Given the description of an element on the screen output the (x, y) to click on. 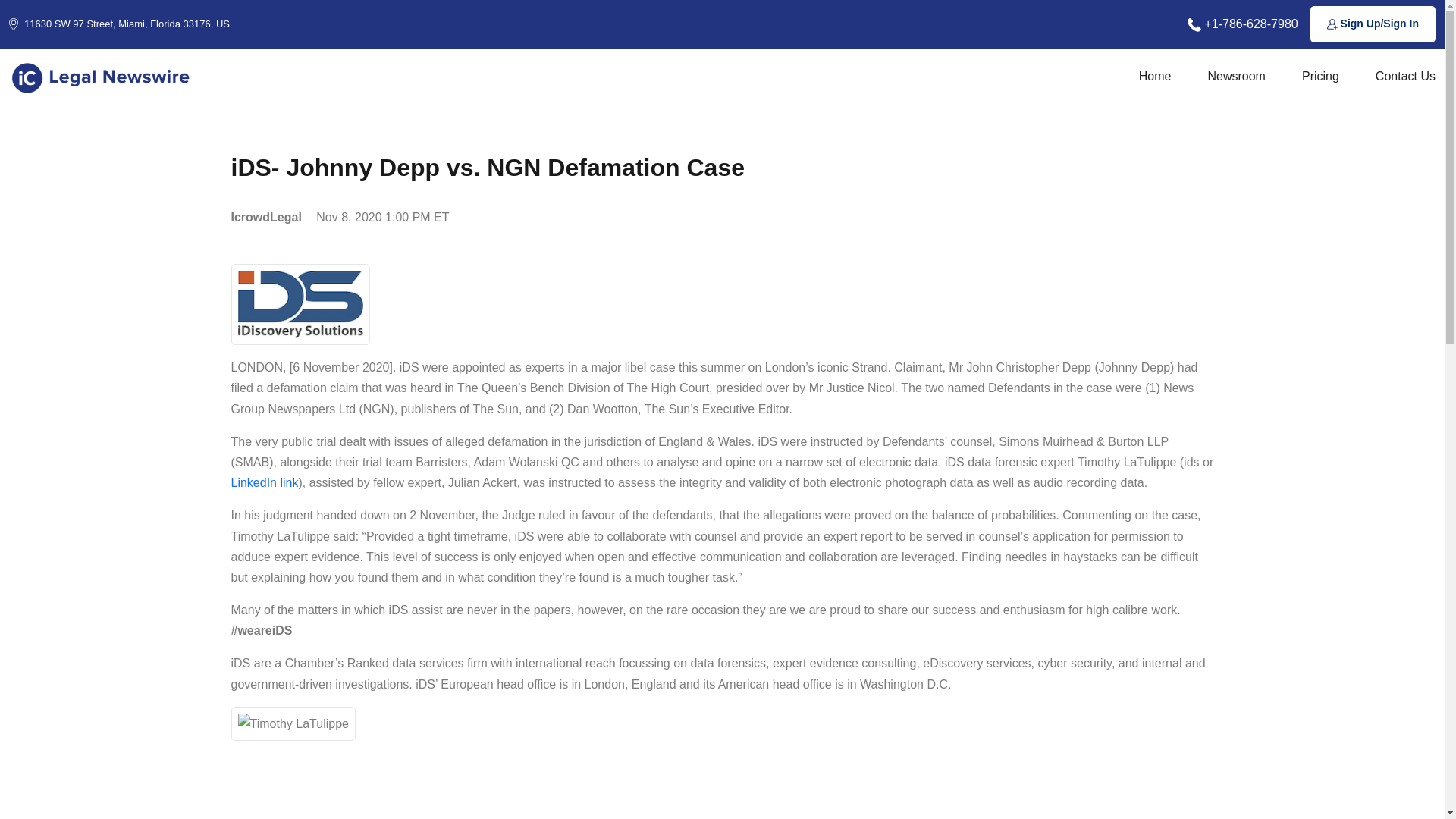
LinkedIn link (264, 481)
Home (1155, 75)
Newsroom (1236, 75)
Pricing (1320, 75)
Contact Us (1405, 75)
